Given the description of an element on the screen output the (x, y) to click on. 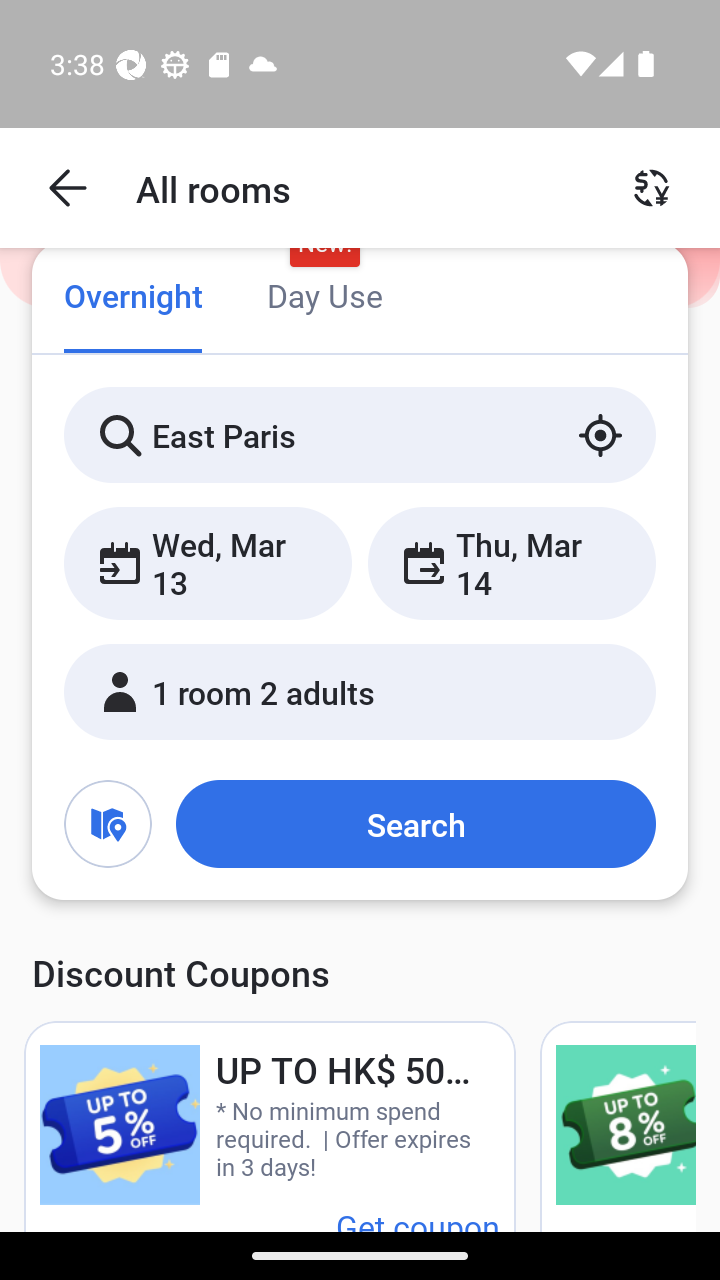
Day Use (324, 298)
East Paris (359, 434)
Wed, Mar 13 (208, 562)
Thu, Mar 14 (511, 562)
1 room 2 adults (359, 691)
Search (415, 823)
